Given the description of an element on the screen output the (x, y) to click on. 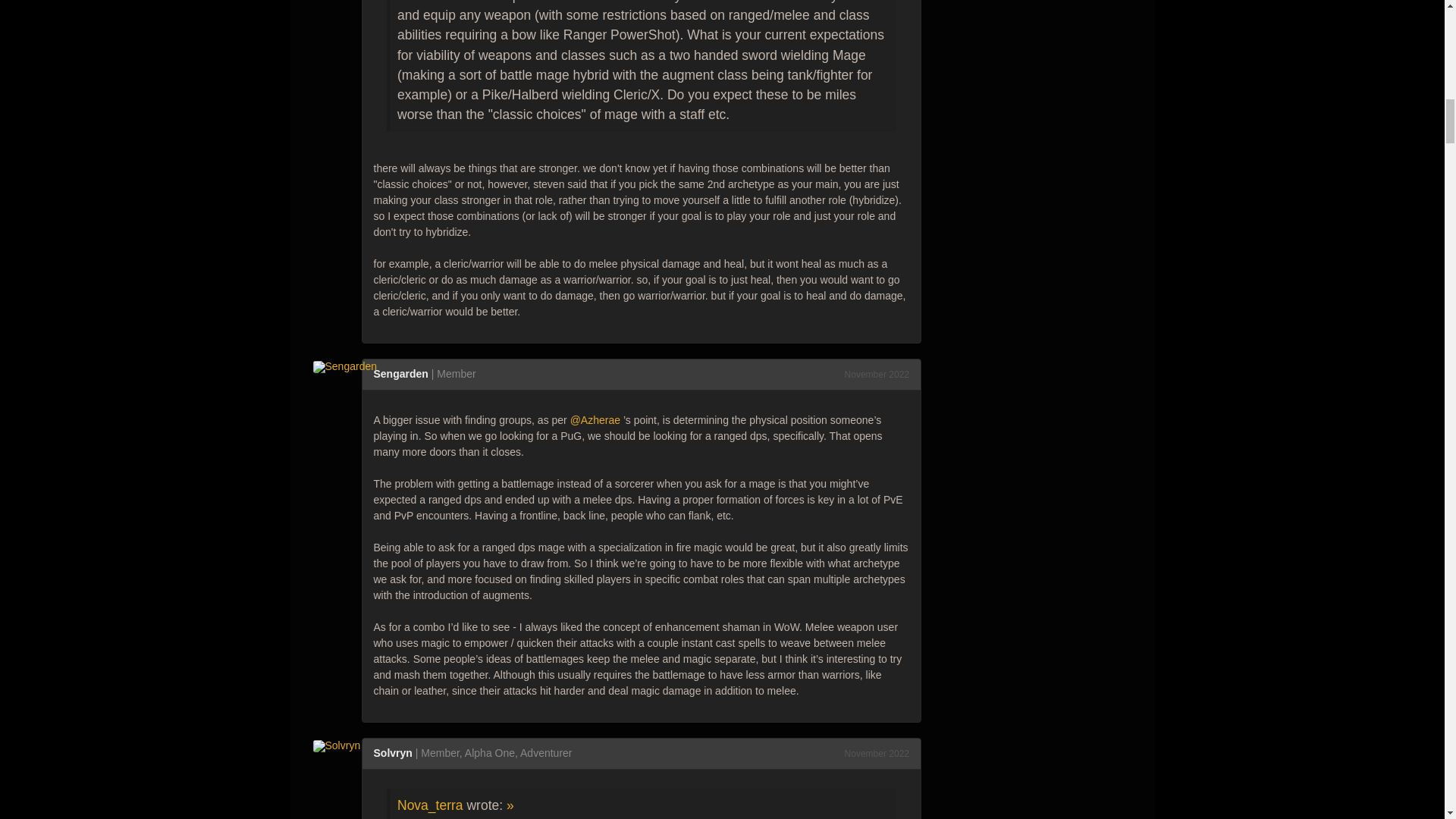
November 16, 2022 8:45PM (876, 753)
November 16, 2022 8:44PM (876, 374)
Solvryn (341, 744)
Sengarden (349, 365)
